Given the description of an element on the screen output the (x, y) to click on. 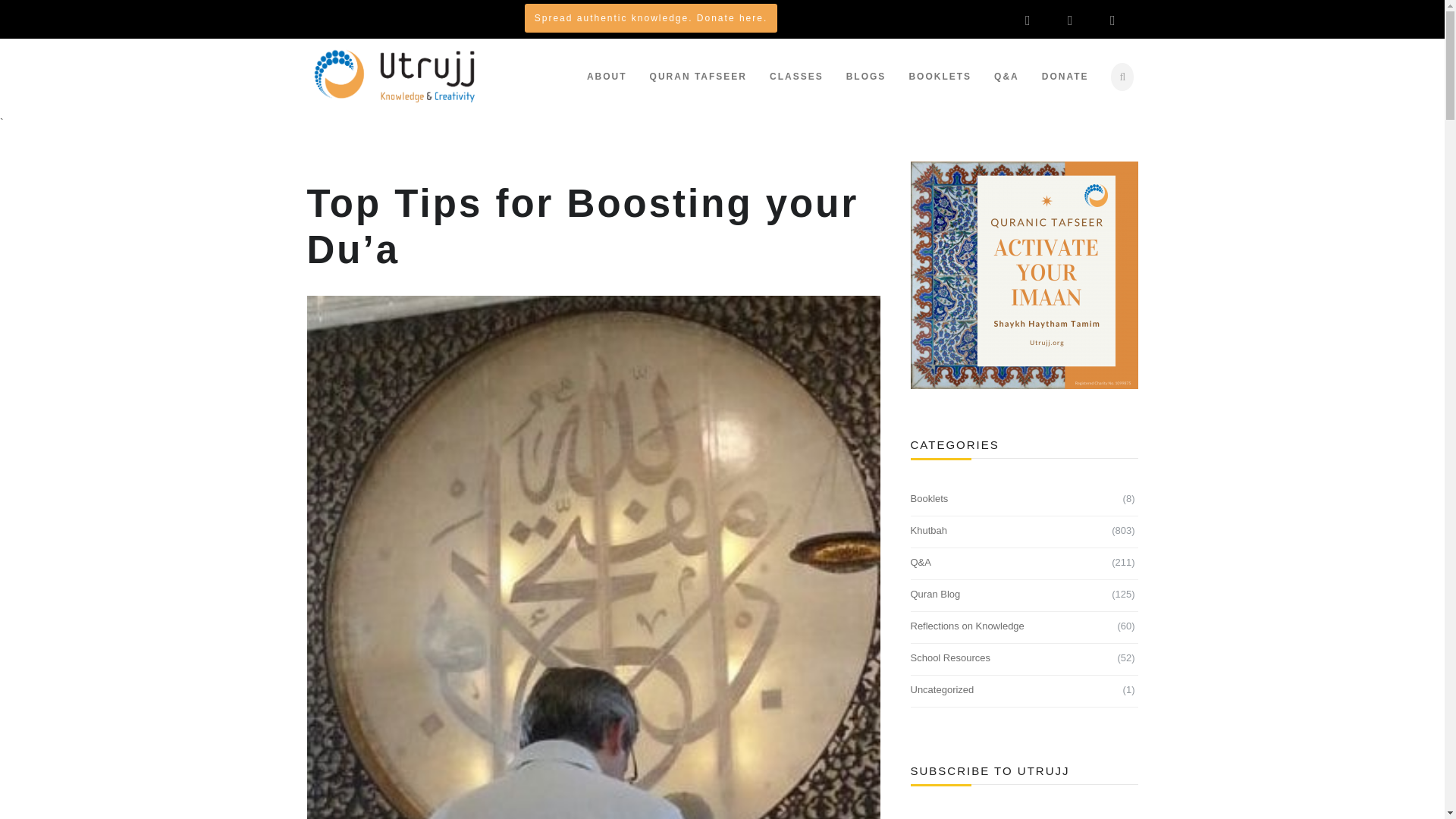
BOOKLETS (939, 76)
Spread authentic knowledge. Donate here. (650, 18)
Spread authentic knowledge. Donate here. (651, 17)
CLASSES (796, 76)
DONATE (1065, 76)
QURAN TAFSEER (698, 76)
